Given the description of an element on the screen output the (x, y) to click on. 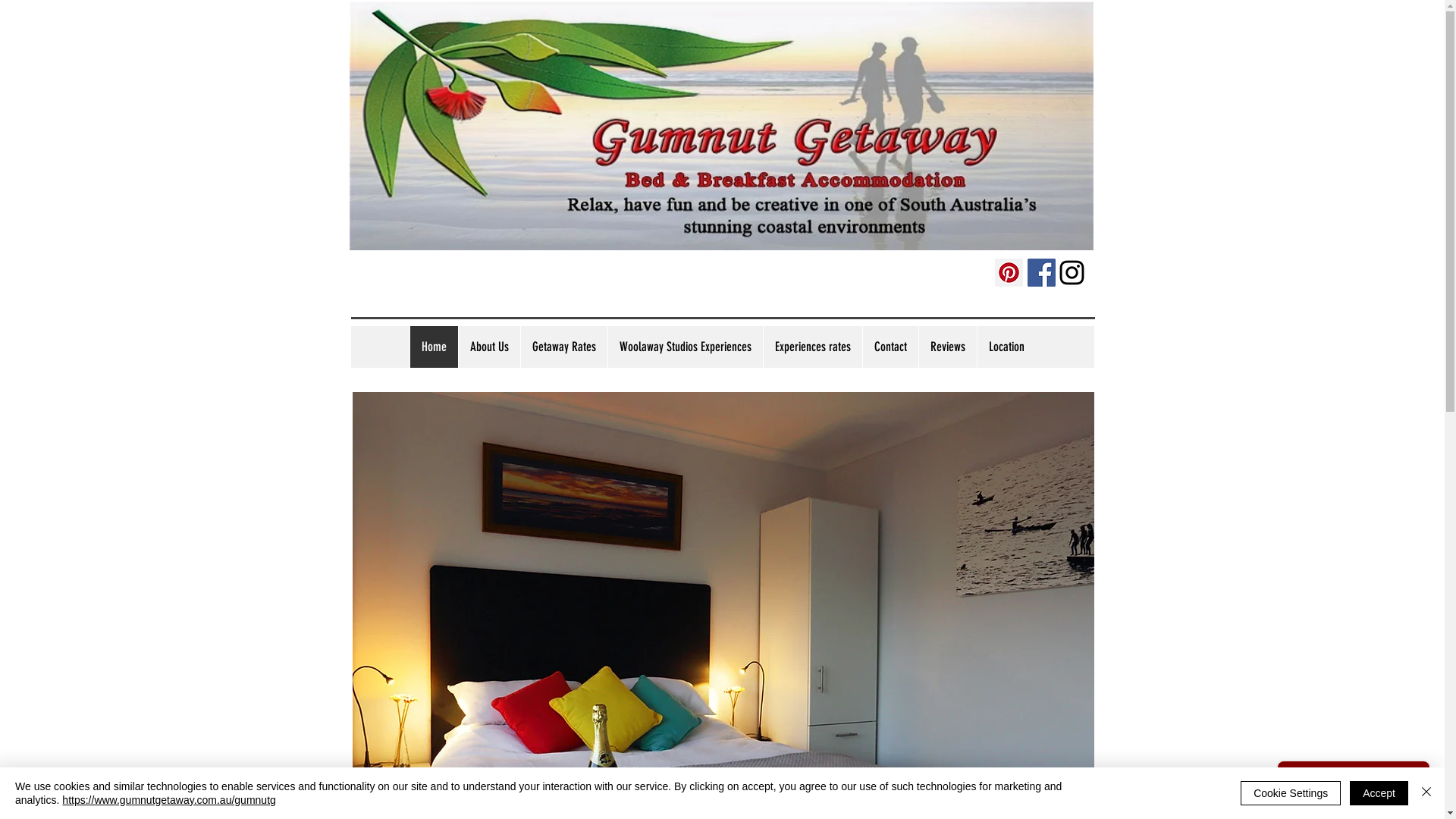
Woolaway Studios Experiences Element type: text (684, 346)
Kayak travel award Element type: hover (411, 274)
Cookie Settings Element type: text (1290, 793)
Couple walking along Goolwa Beach at sunset Element type: hover (720, 125)
Accept Element type: text (1378, 793)
About Us Element type: text (489, 346)
Contact Element type: text (889, 346)
Home Element type: text (433, 346)
https://www.gumnutgetaway.com.au/gumnutg Element type: text (168, 799)
Reviews Element type: text (946, 346)
Experiences rates Element type: text (812, 346)
Getaway Rates Element type: text (563, 346)
Location Element type: text (1005, 346)
